Given the description of an element on the screen output the (x, y) to click on. 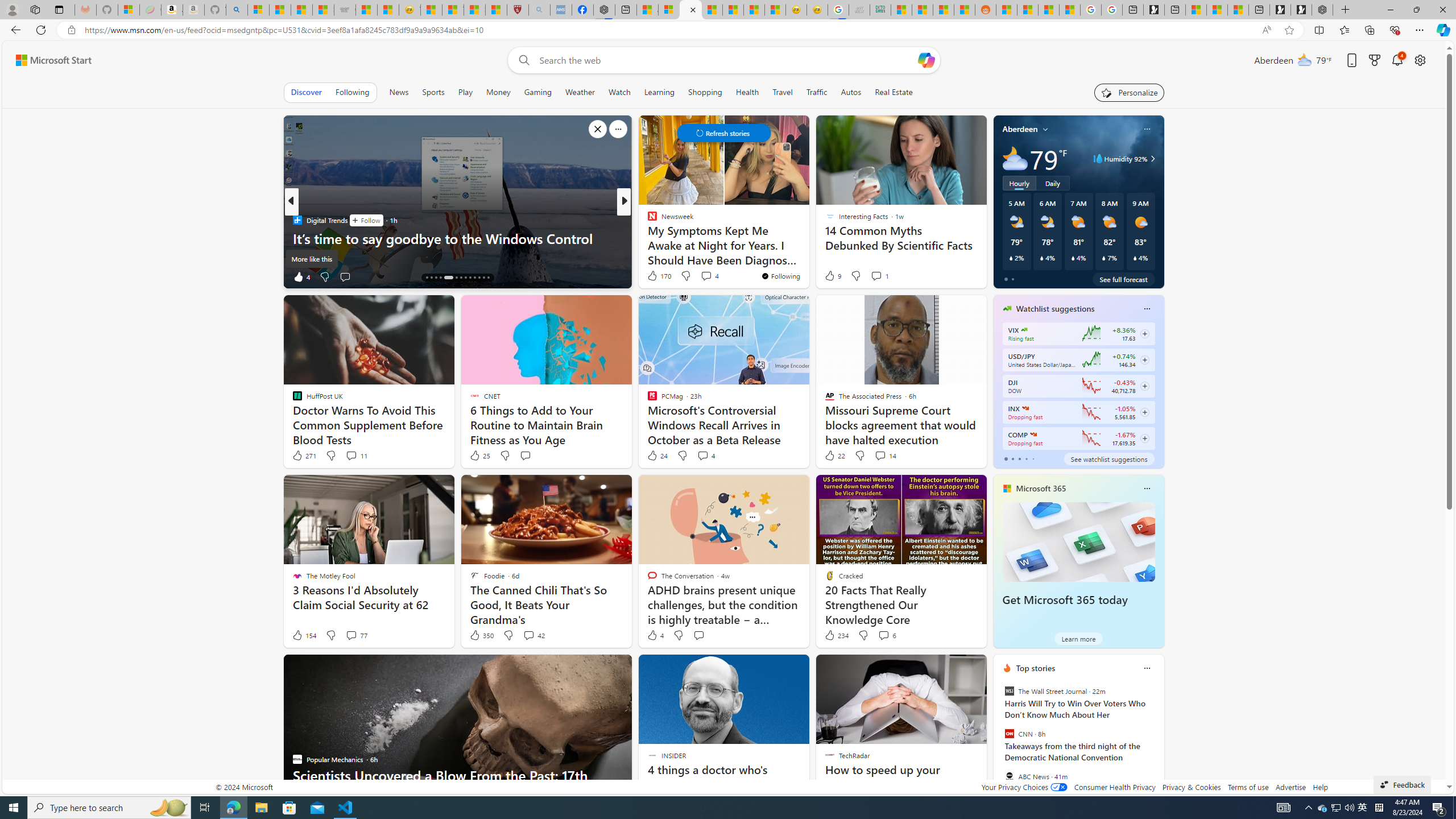
My location (1045, 128)
AutomationID: tab-14 (426, 277)
You're following Newsweek (780, 275)
154 Like (303, 634)
TODAY (647, 219)
24 Like (657, 455)
